Given the description of an element on the screen output the (x, y) to click on. 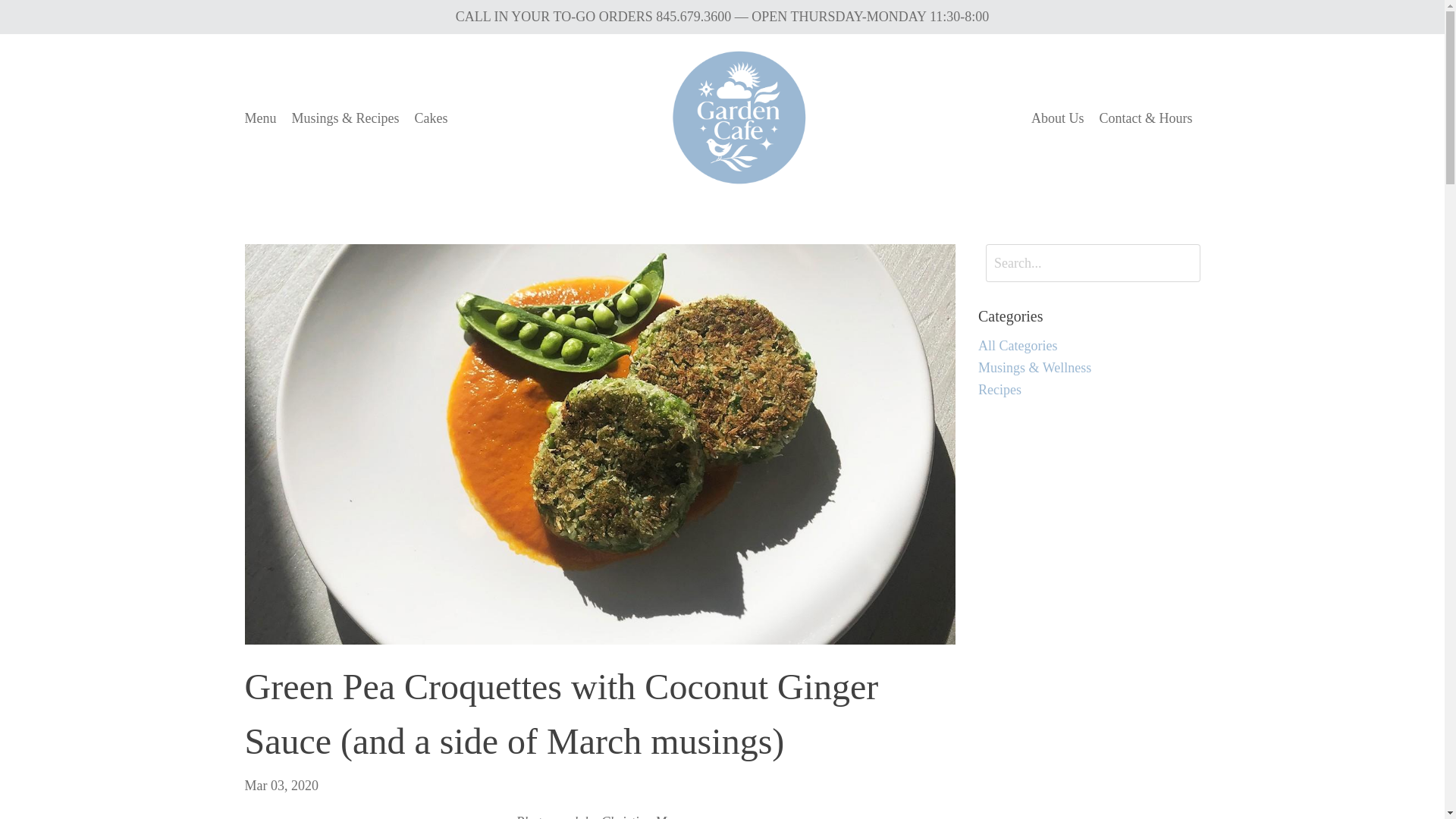
All Categories (1088, 345)
Menu (260, 118)
About Us (1057, 118)
Cakes (429, 118)
Recipes (1088, 390)
